Given the description of an element on the screen output the (x, y) to click on. 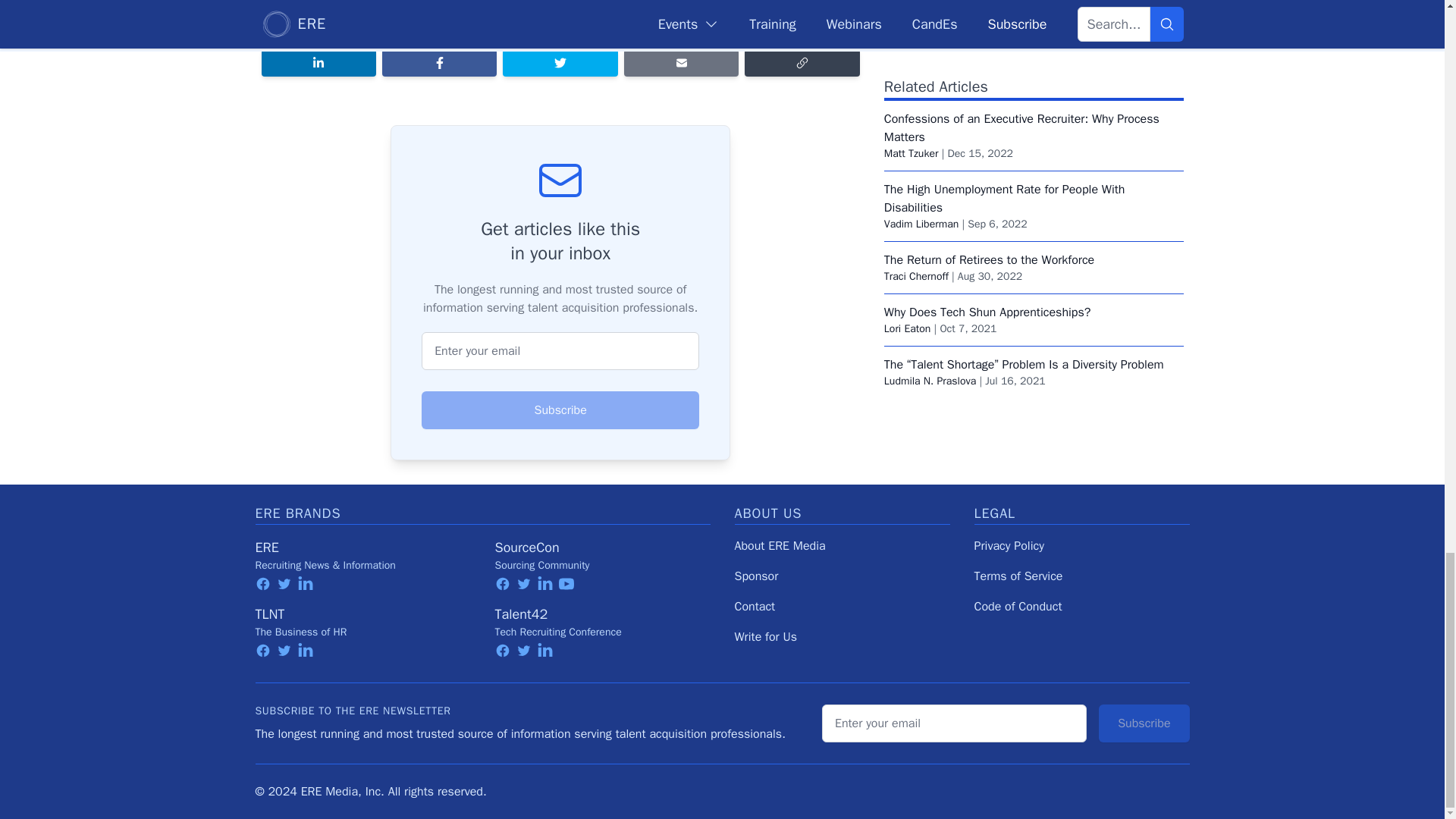
Traci Chernoff (916, 141)
The High Unemployment Rate for People With Disabilities (1004, 63)
Vadim Liberman (920, 88)
Subscribe (560, 410)
The Return of Retirees to the Workforce (988, 124)
Matt Tzuker (911, 18)
Why Does Tech Shun Apprenticeships? (986, 177)
Confessions of an Executive Recruiter: Why Process Matters (1020, 4)
